Given the description of an element on the screen output the (x, y) to click on. 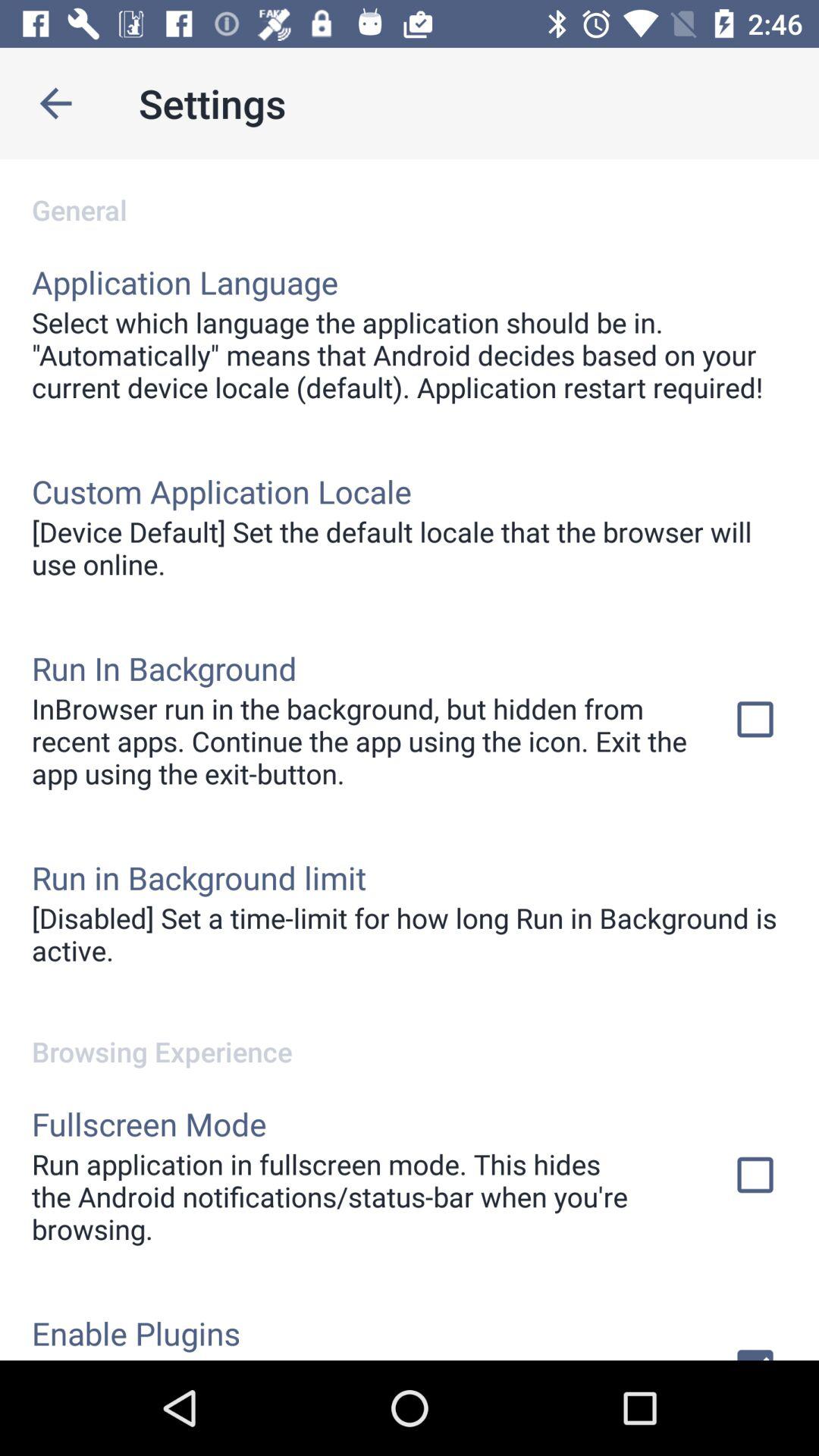
press the app above the browsing experience app (409, 934)
